Given the description of an element on the screen output the (x, y) to click on. 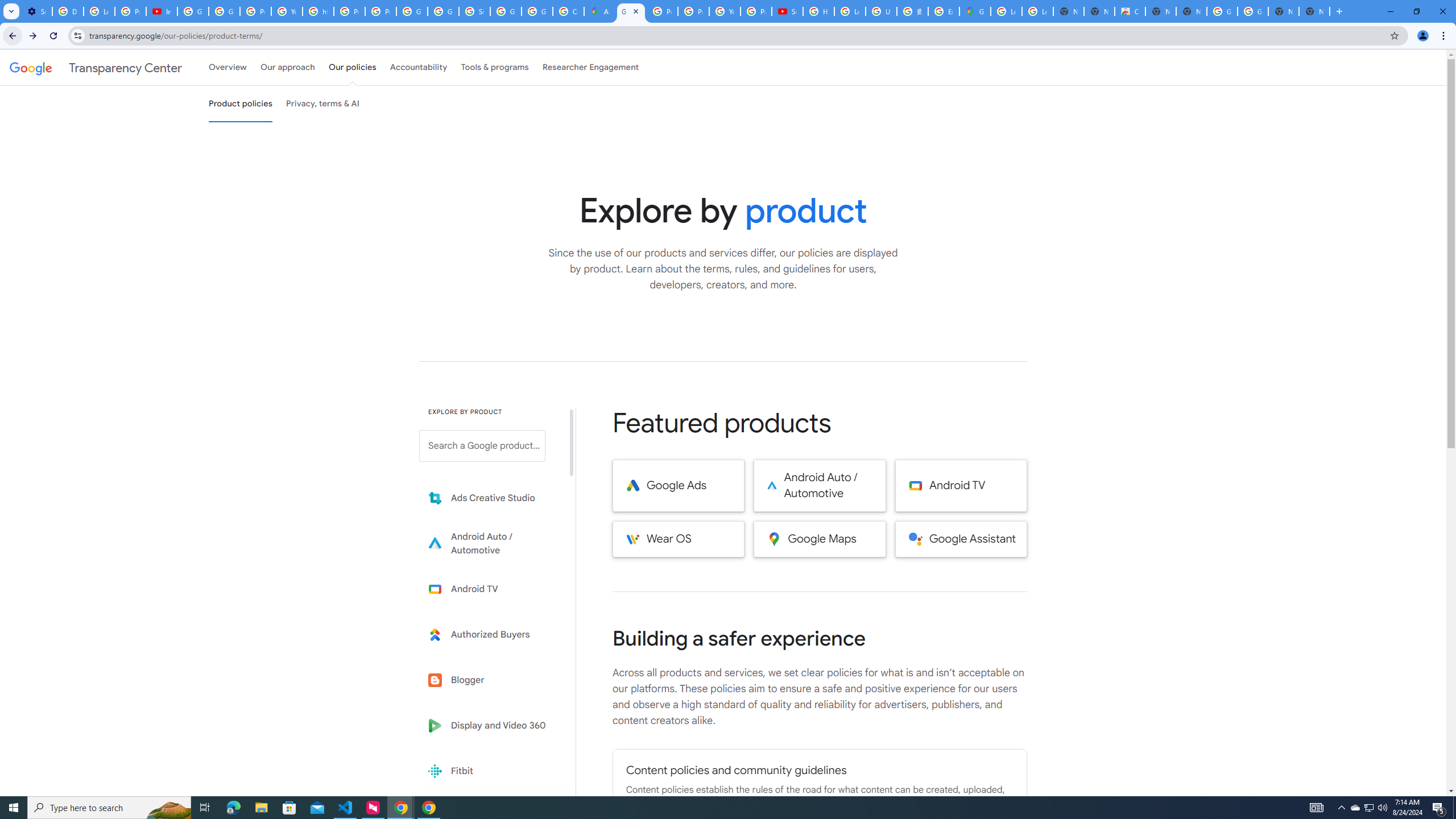
Google Account Help (223, 11)
Privacy Help Center - Policies Help (349, 11)
Google Maps (974, 11)
YouTube (724, 11)
New Tab (1314, 11)
Learn more about Ads Creative Studio (490, 497)
